Given the description of an element on the screen output the (x, y) to click on. 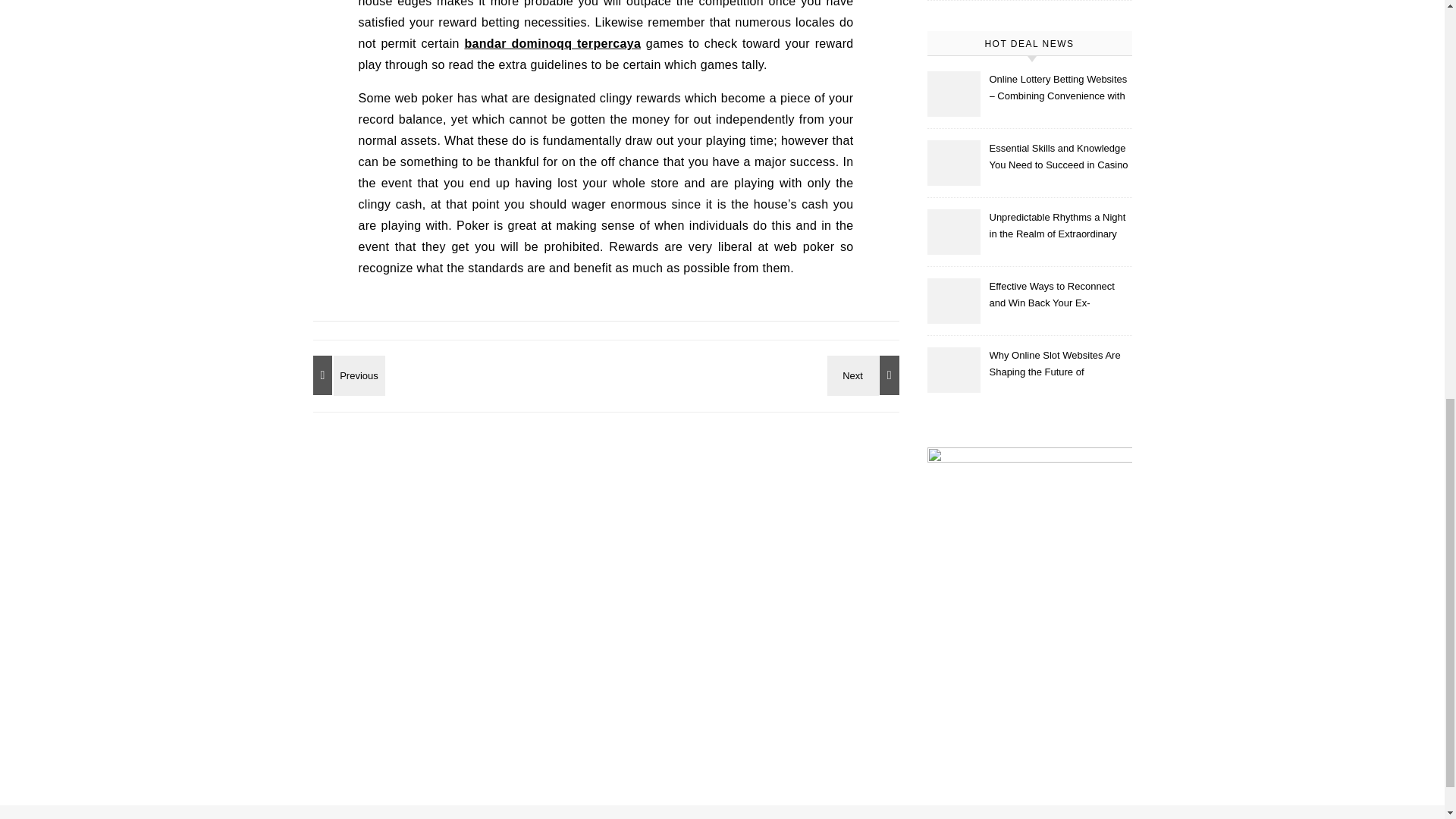
bandar dominoqq terpercaya (552, 42)
What Are the Different Types of Escorts in Liverpool? (865, 374)
